Given the description of an element on the screen output the (x, y) to click on. 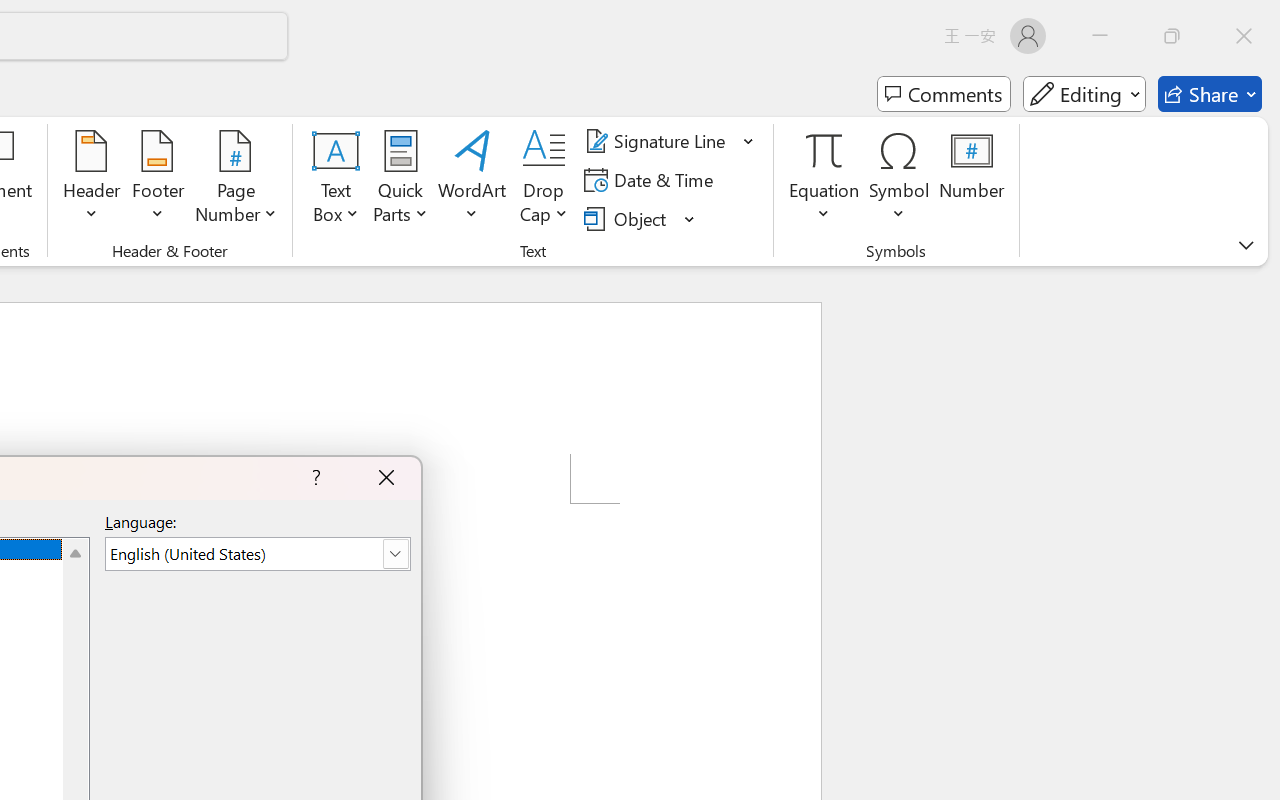
Hide Ink (27, 114)
Hide Ink (27, 94)
Czech (1030, 455)
